Given the description of an element on the screen output the (x, y) to click on. 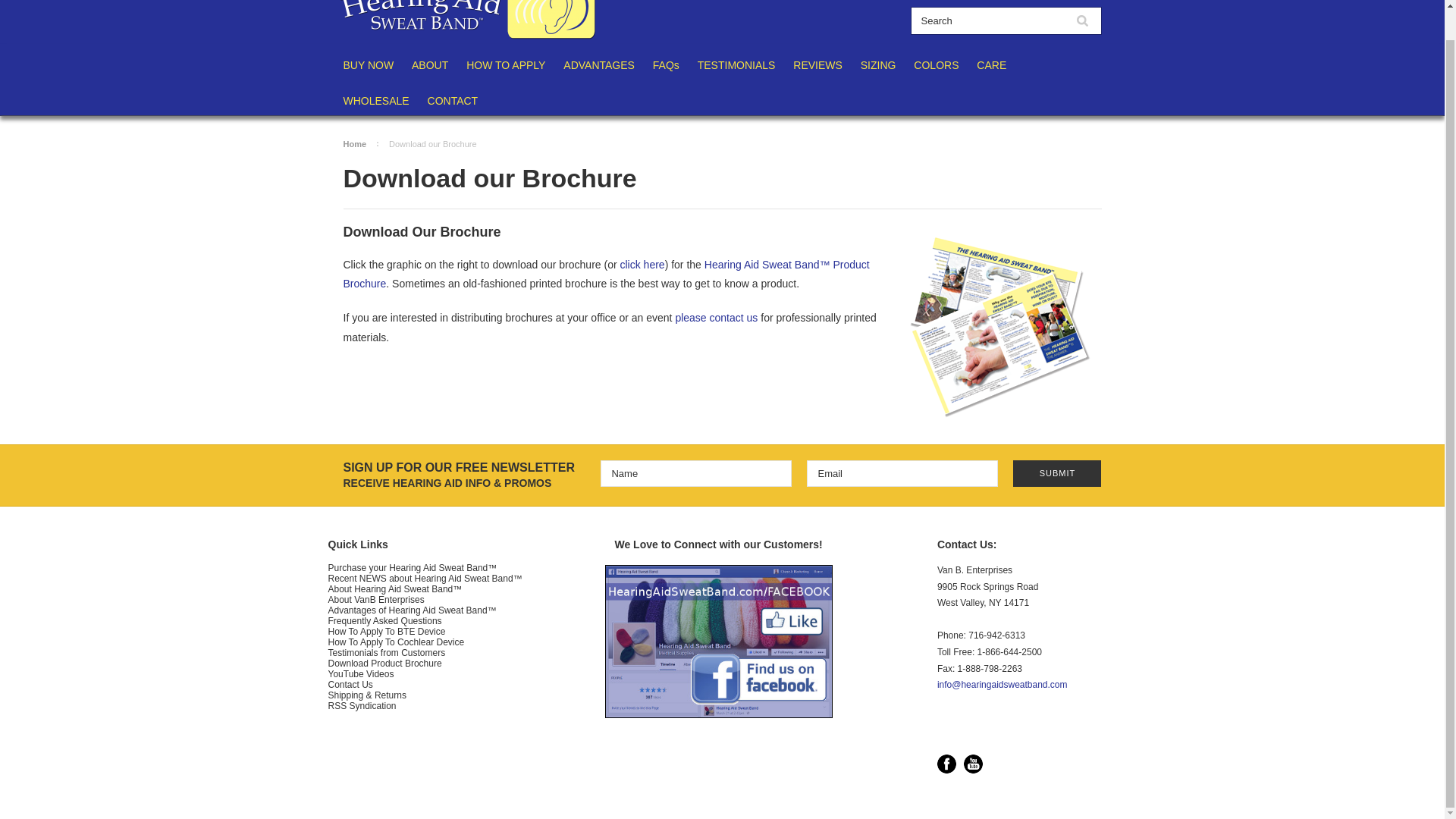
YouTube (972, 763)
Email (901, 473)
Search (1081, 20)
Submit (1056, 473)
Search (986, 20)
Facebook (946, 763)
Name (695, 473)
